Given the description of an element on the screen output the (x, y) to click on. 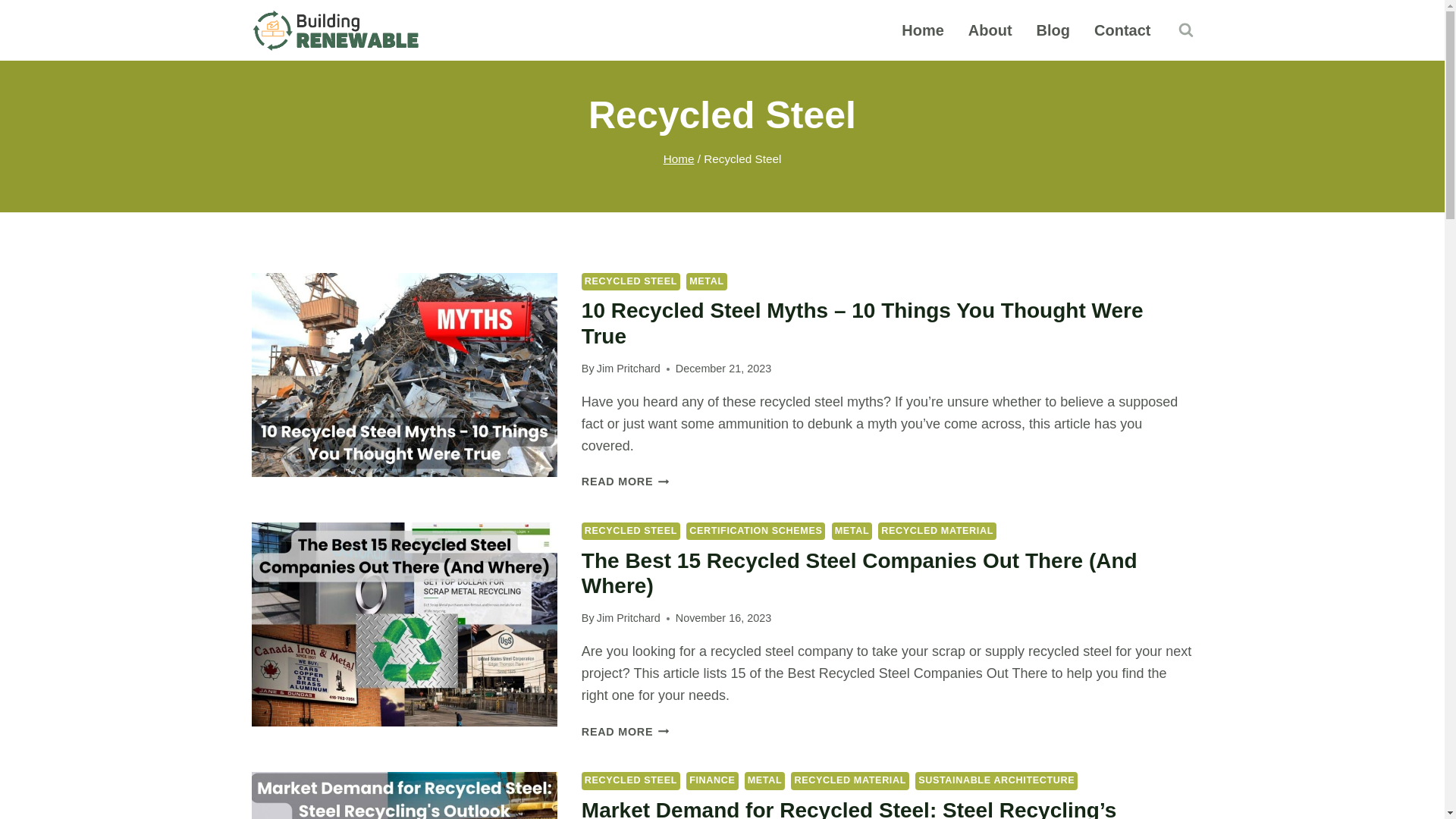
RECYCLED STEEL (629, 281)
METAL (765, 780)
FINANCE (711, 780)
Jim Pritchard (628, 617)
Home (678, 158)
RECYCLED MATERIAL (936, 530)
RECYCLED MATERIAL (849, 780)
METAL (705, 281)
RECYCLED STEEL (629, 530)
Home (922, 30)
Blog (1053, 30)
METAL (851, 530)
Jim Pritchard (628, 368)
CERTIFICATION SCHEMES (755, 530)
About (990, 30)
